Given the description of an element on the screen output the (x, y) to click on. 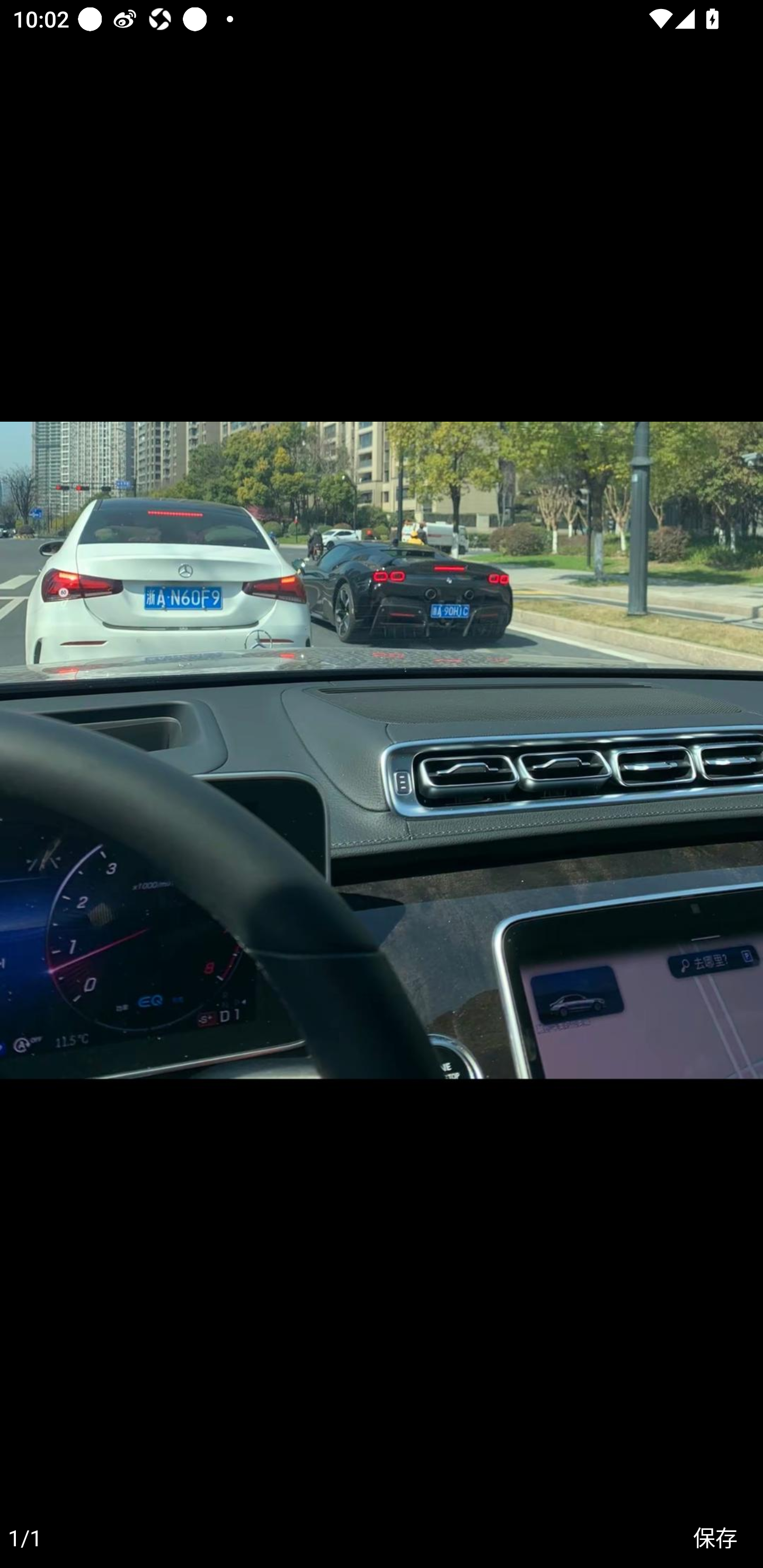
保存 (715, 1538)
